Given the description of an element on the screen output the (x, y) to click on. 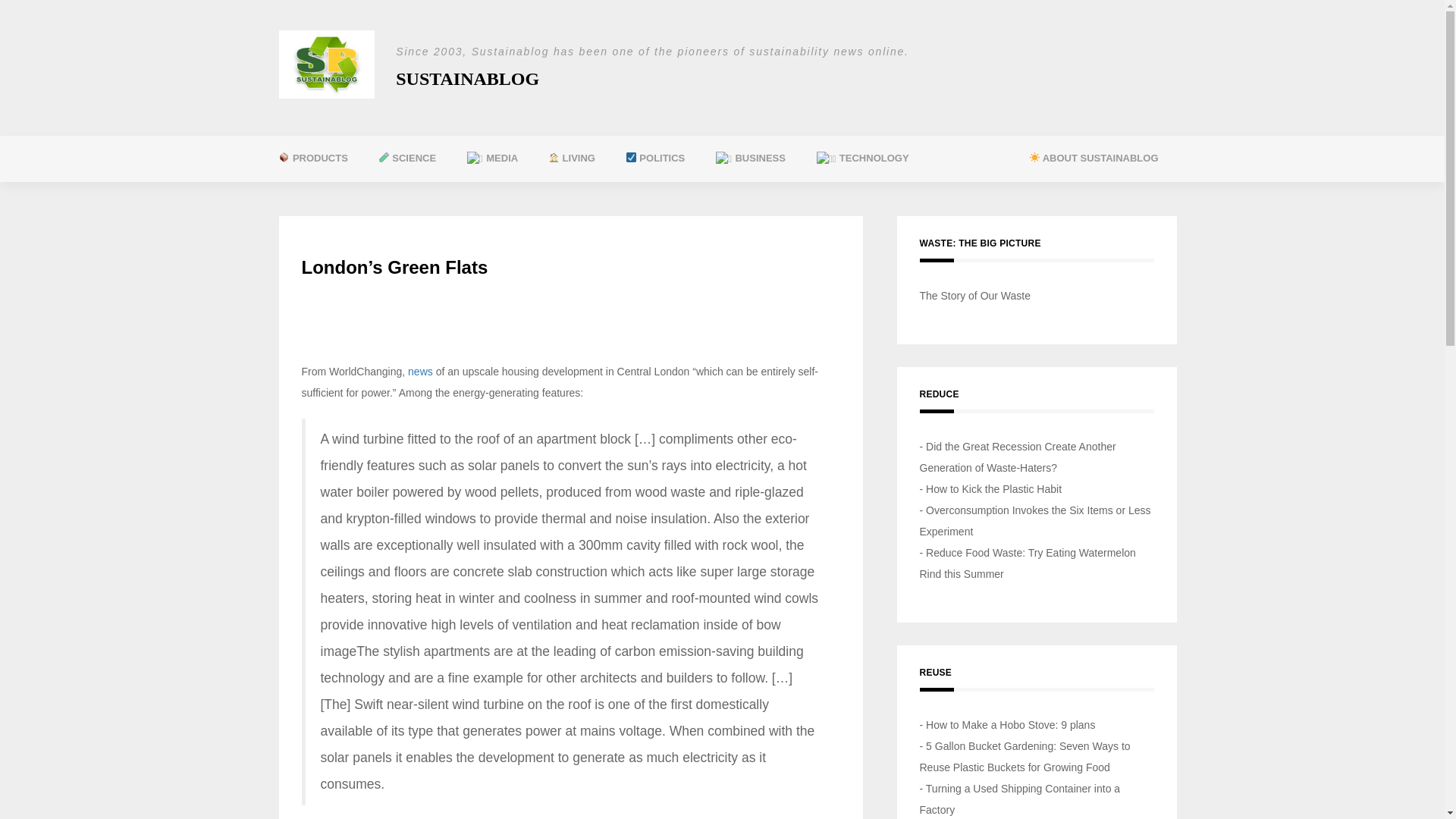
BUSINESS (750, 158)
POLITICS (655, 157)
SCIENCE (406, 157)
LIVING (571, 157)
TECHNOLOGY (862, 158)
MEDIA (491, 158)
SUSTAINABLOG (467, 78)
news (419, 371)
ABOUT SUSTAINABLOG (1093, 157)
PRODUCTS (312, 157)
